Given the description of an element on the screen output the (x, y) to click on. 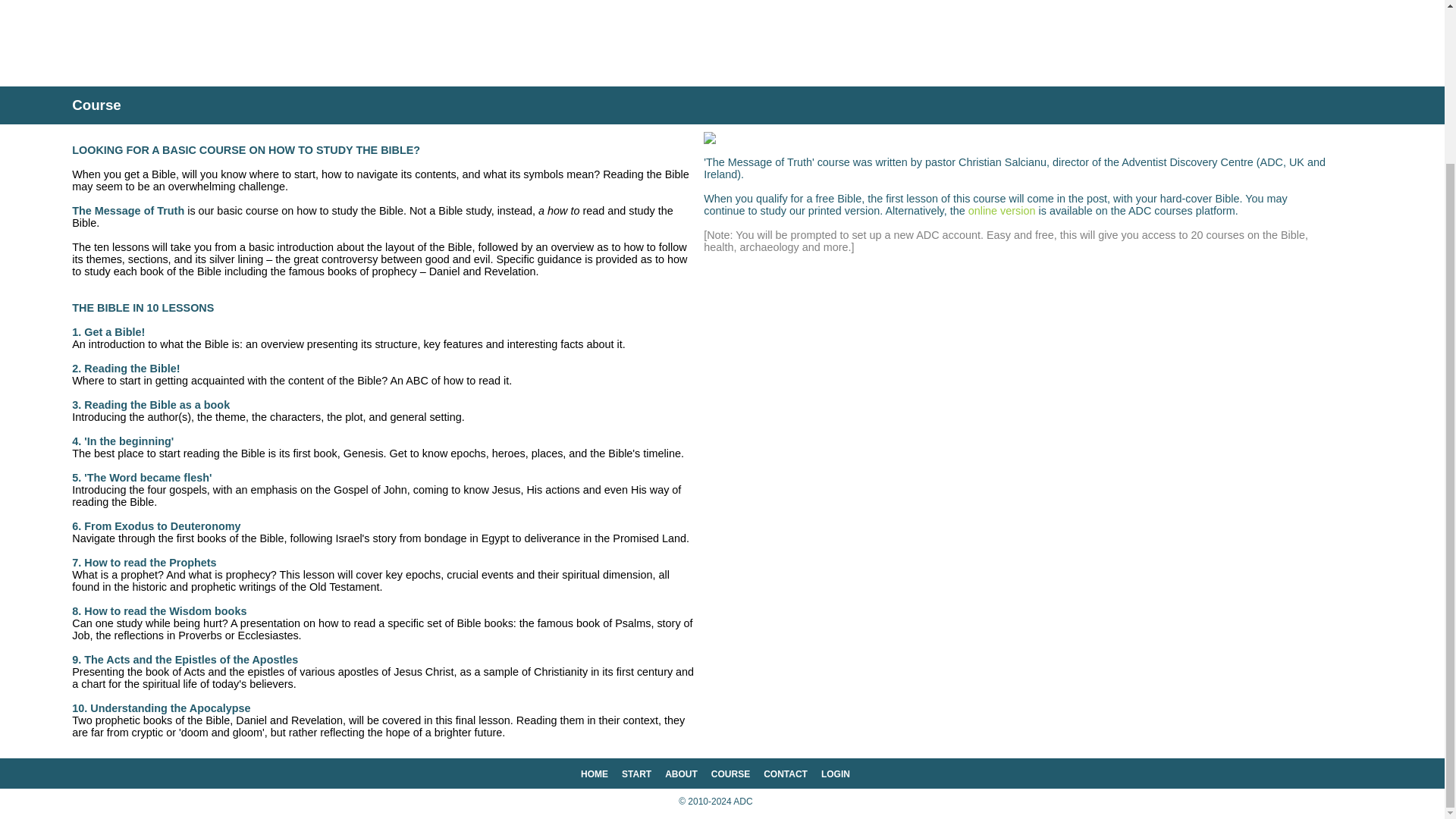
START (635, 773)
HOME (594, 773)
online version (1001, 210)
COURSE (730, 773)
ABOUT (681, 773)
CONTACT (785, 773)
LOGIN (835, 773)
ADC (742, 801)
